Given the description of an element on the screen output the (x, y) to click on. 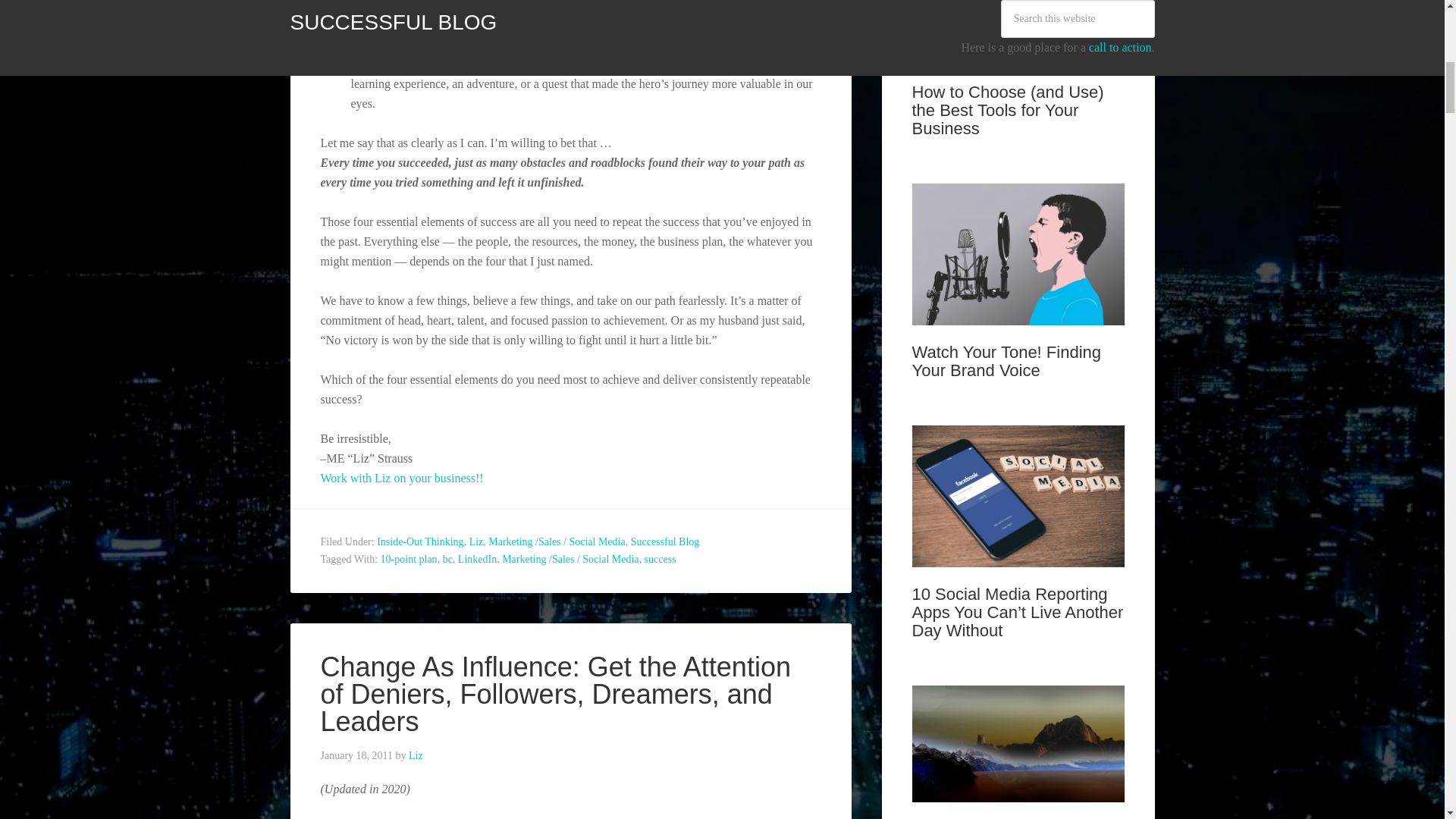
Liz (416, 754)
LinkedIn (477, 559)
success (661, 559)
10-point plan (409, 559)
Liz (475, 541)
Work with Liz on your business!! (401, 477)
Inside-Out Thinking (420, 541)
Successful Blog (665, 541)
